Given the description of an element on the screen output the (x, y) to click on. 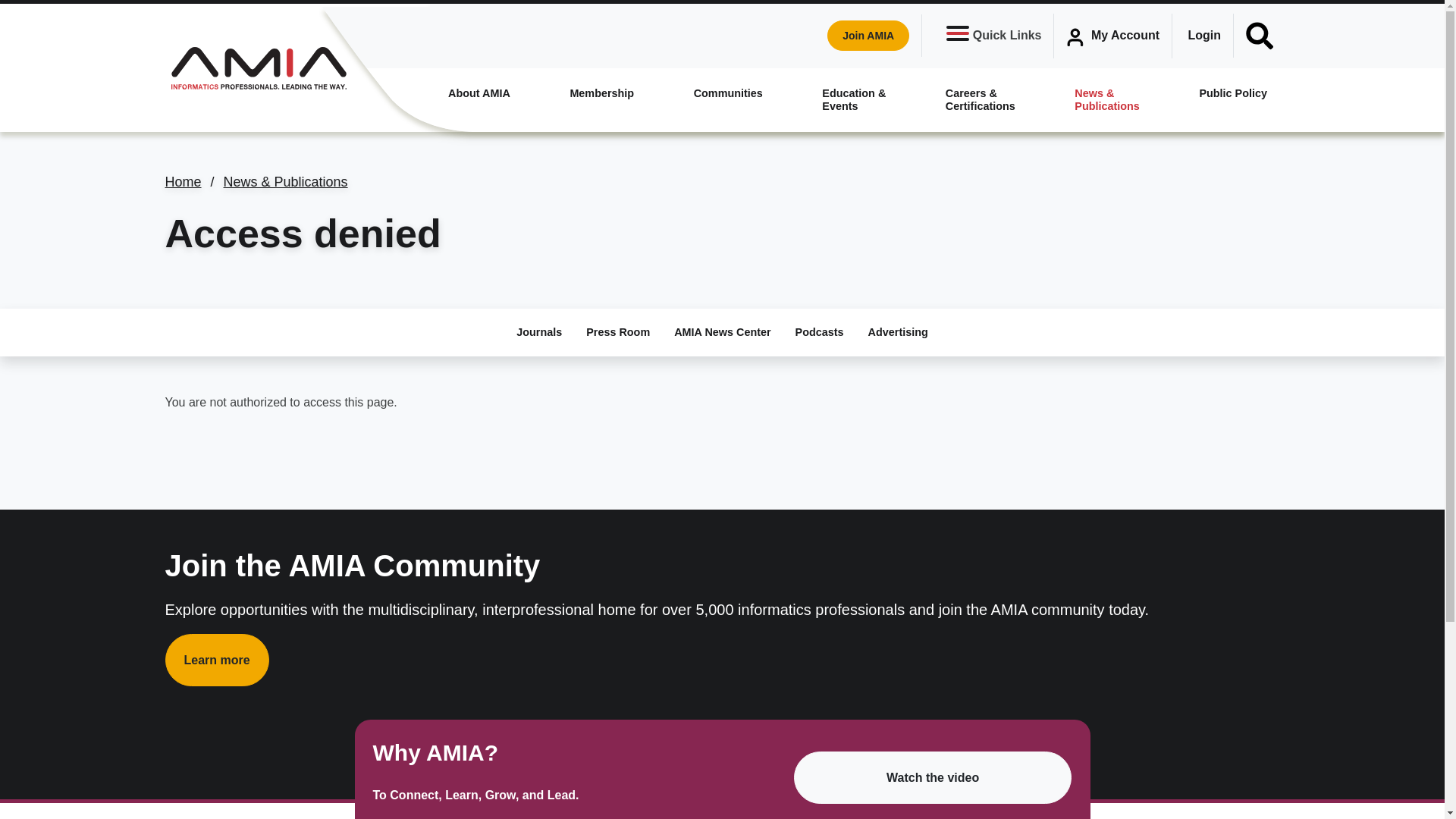
Join AMIA (867, 35)
Login (1204, 34)
My Account (1113, 35)
Communities (727, 93)
AMIA Homepage (258, 67)
Learn more (217, 659)
description of the page (479, 93)
About AMIA (479, 93)
Membership (601, 93)
